Given the description of an element on the screen output the (x, y) to click on. 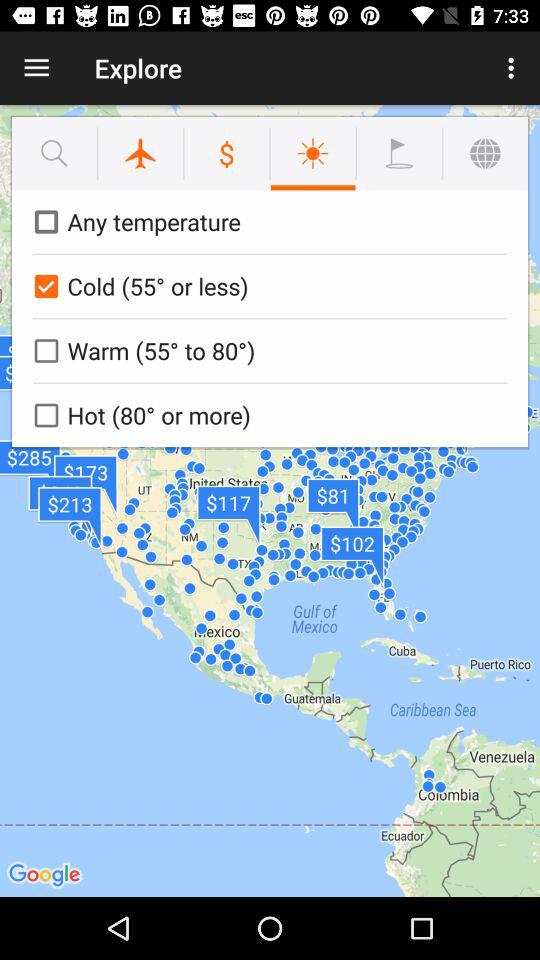
select the item to the left of the explore (36, 68)
